Given the description of an element on the screen output the (x, y) to click on. 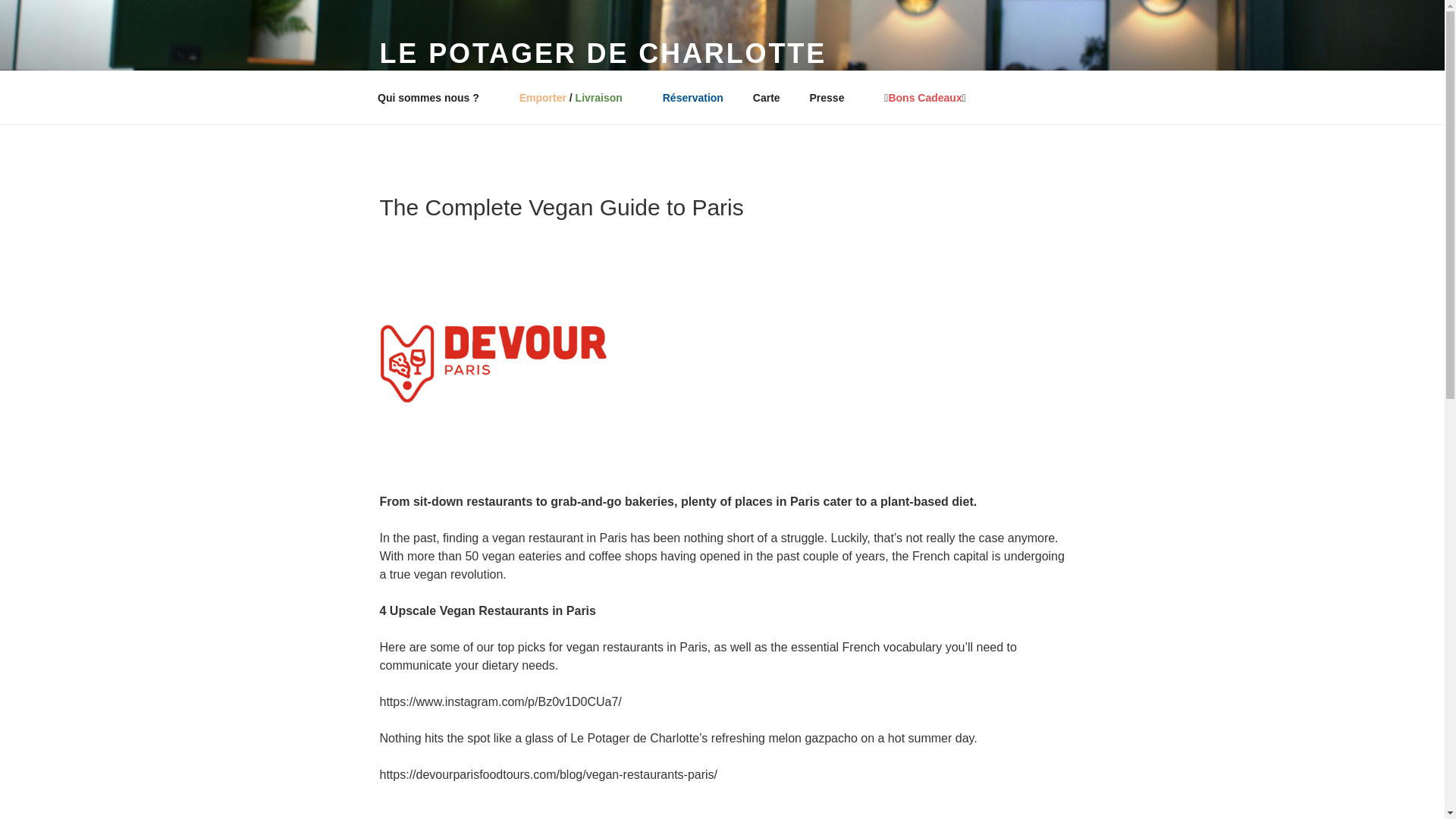
Carte (766, 97)
LE POTAGER DE CHARLOTTE (602, 52)
Presse (831, 97)
Qui sommes nous ? (433, 97)
